Given the description of an element on the screen output the (x, y) to click on. 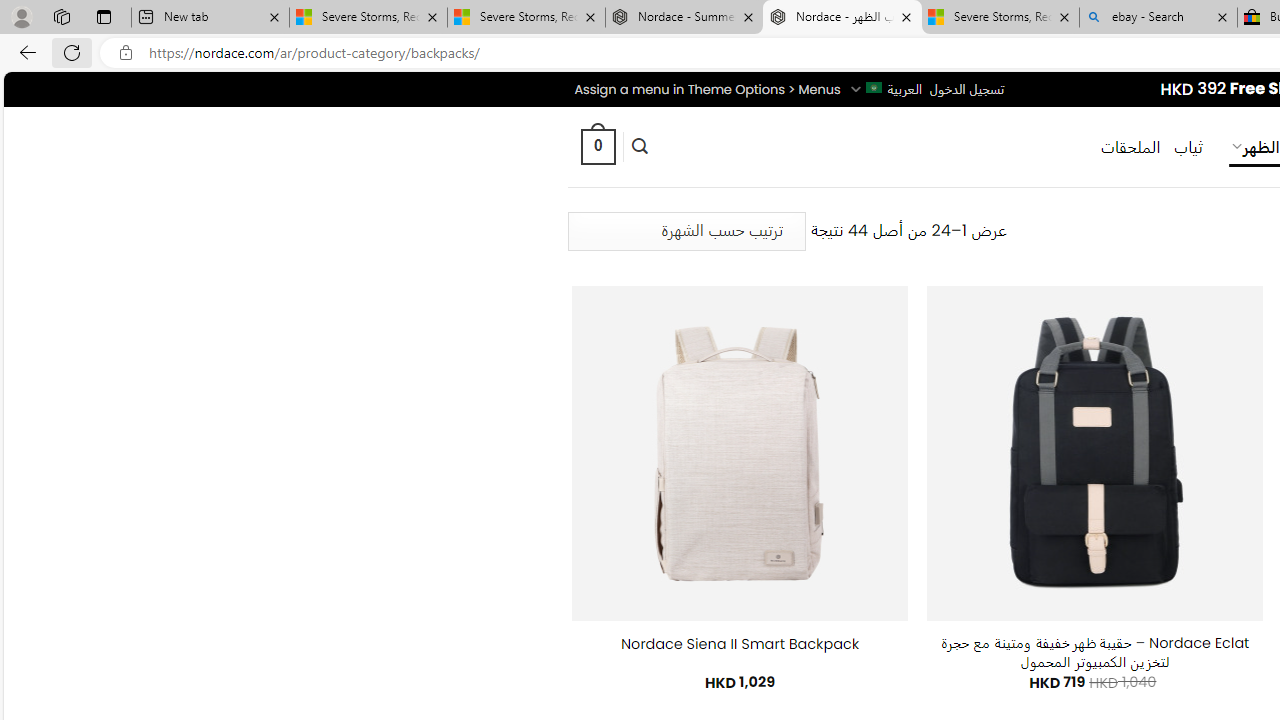
Nordace - Summer Adventures 2024 (683, 17)
Nordace Siena II Smart Backpack (739, 643)
 0  (597, 146)
ebay - Search (1158, 17)
